Given the description of an element on the screen output the (x, y) to click on. 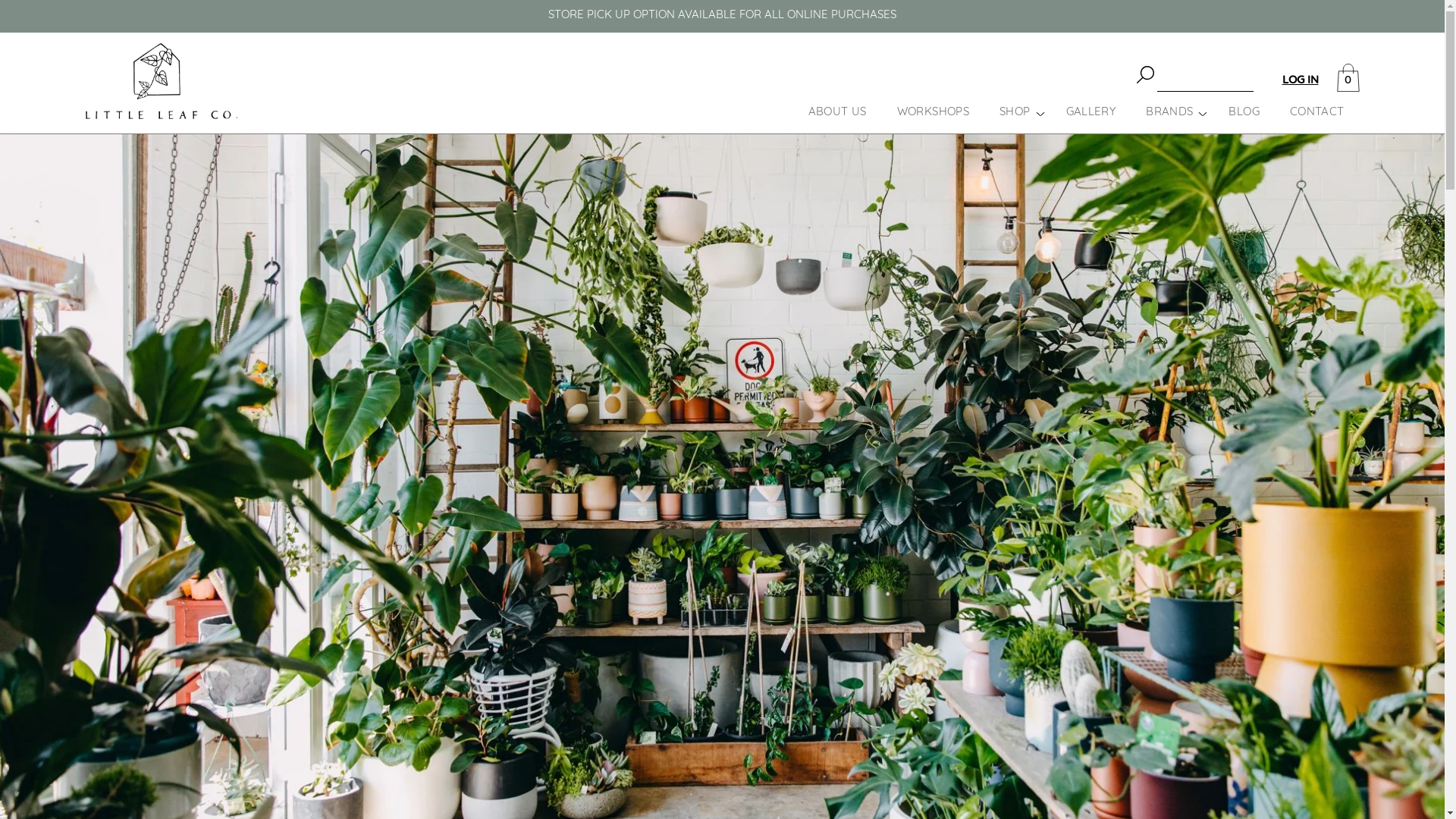
BRANDS Element type: text (1168, 112)
ABOUT US Element type: text (837, 112)
SHOP Element type: text (1014, 112)
GALLERY Element type: text (1091, 112)
WORKSHOPS Element type: text (933, 112)
0 Element type: text (1347, 77)
CONTACT Element type: text (1316, 112)
BLOG Element type: text (1243, 112)
LOG IN Element type: text (1299, 80)
